Given the description of an element on the screen output the (x, y) to click on. 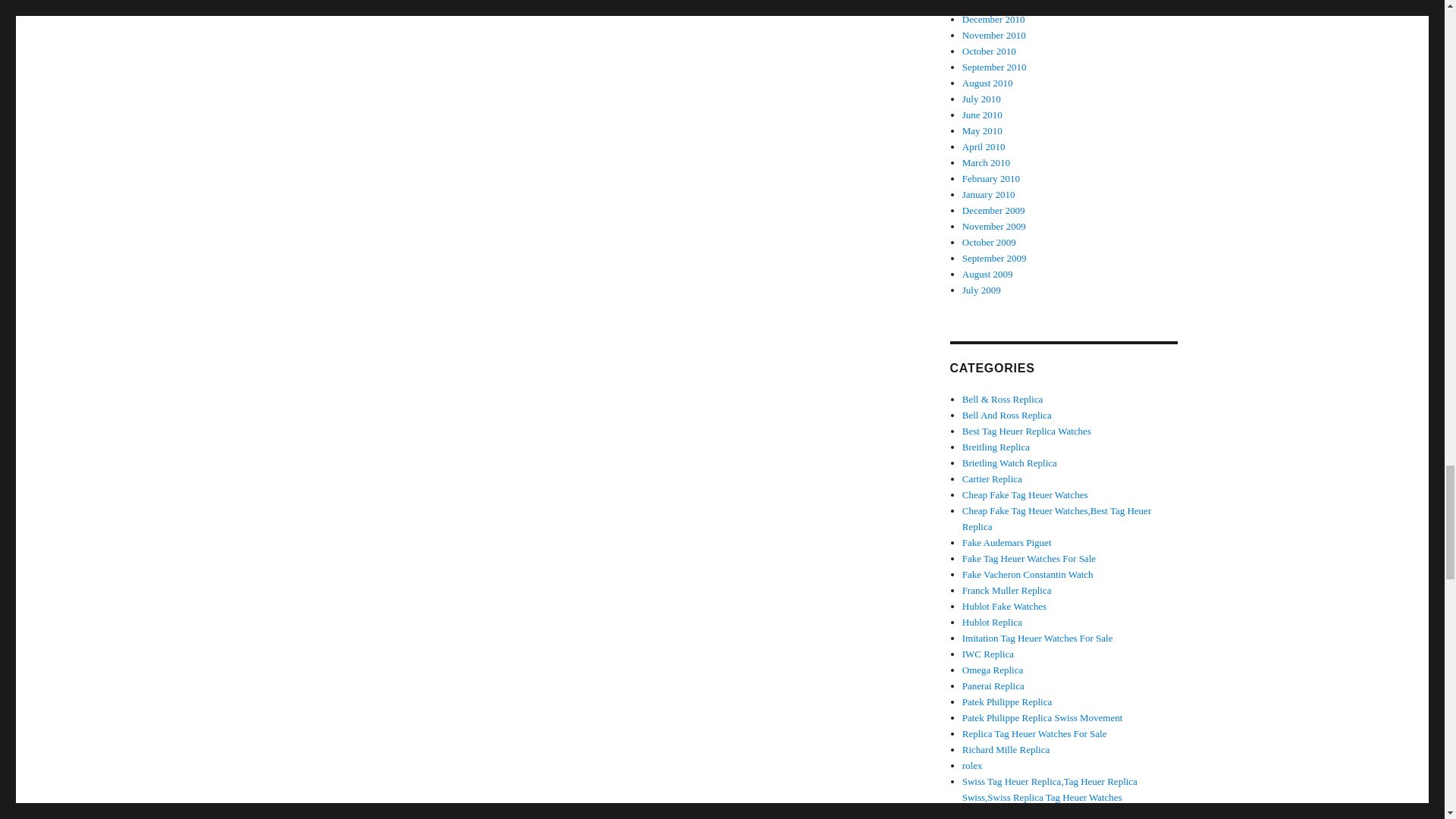
Cheap Fake Tag Heuer Watches,Best Tag Heuer Replica (1056, 518)
Fake Tag Heuer Watches For Sale (1029, 558)
Replica Tag Heuer Watches For Sale (1034, 733)
